Given the description of an element on the screen output the (x, y) to click on. 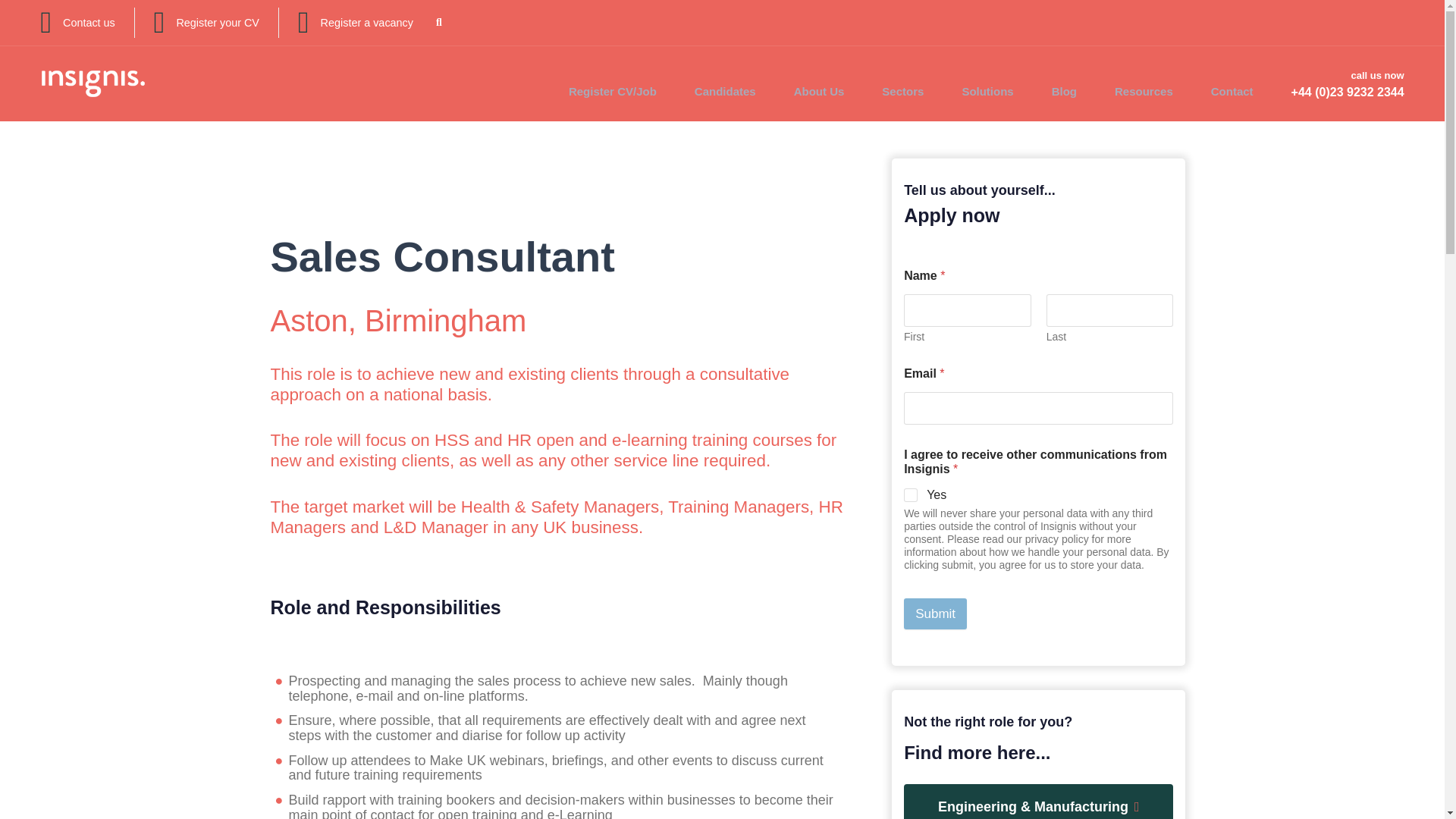
About Us (818, 83)
Resources (1144, 83)
Solutions (987, 83)
Contact (1232, 83)
Sectors (902, 83)
Contact us (88, 22)
Yes (911, 494)
Register your CV (217, 22)
Register a vacancy (366, 22)
Candidates (724, 83)
